Given the description of an element on the screen output the (x, y) to click on. 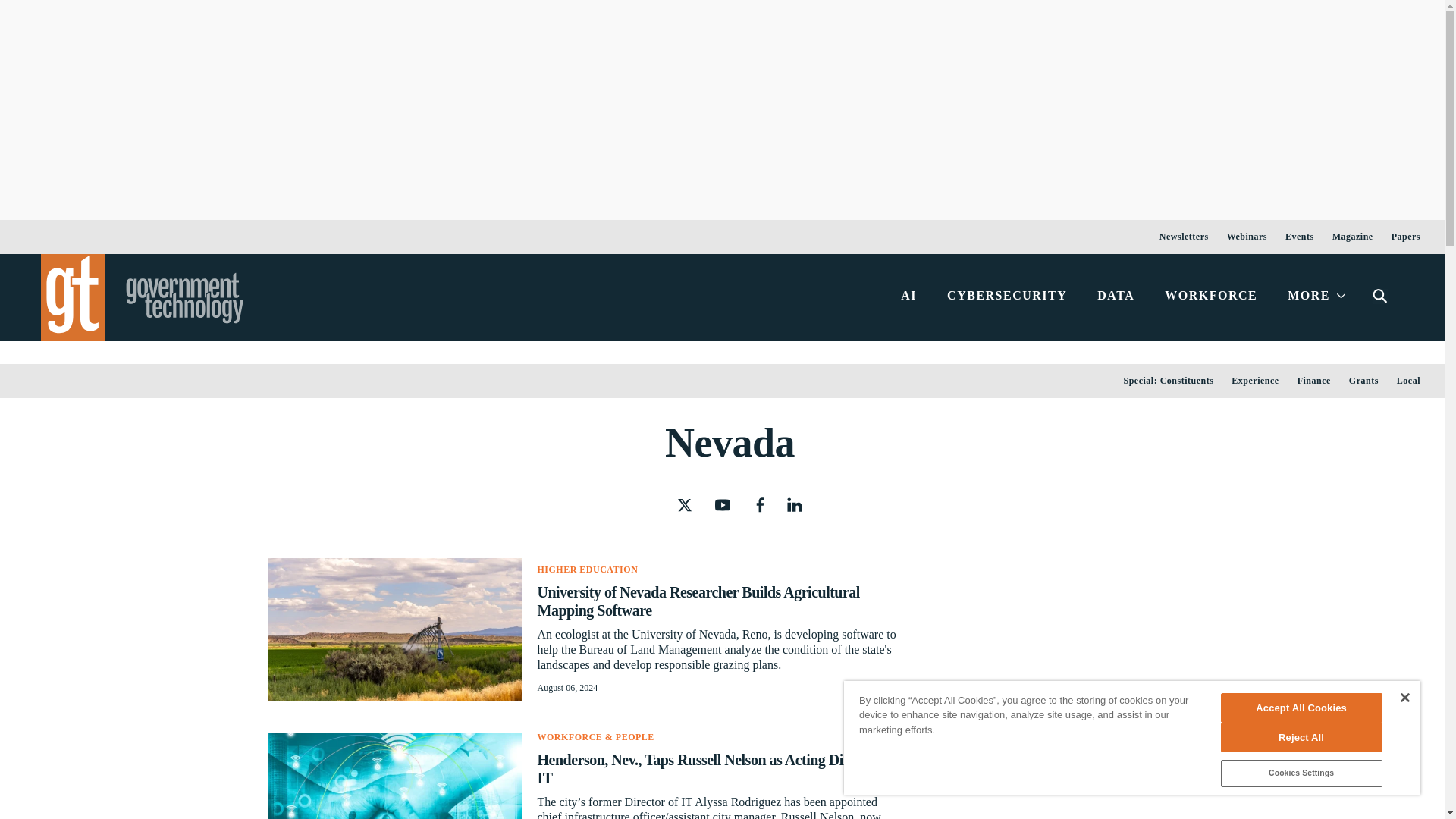
DATA (1115, 296)
Newsletters (1183, 236)
MORE (1314, 296)
CYBERSECURITY (1006, 296)
WORKFORCE (1211, 296)
Webinars (1246, 236)
AI (908, 296)
Papers (1405, 236)
Magazine (1352, 236)
Events (1299, 236)
